Given the description of an element on the screen output the (x, y) to click on. 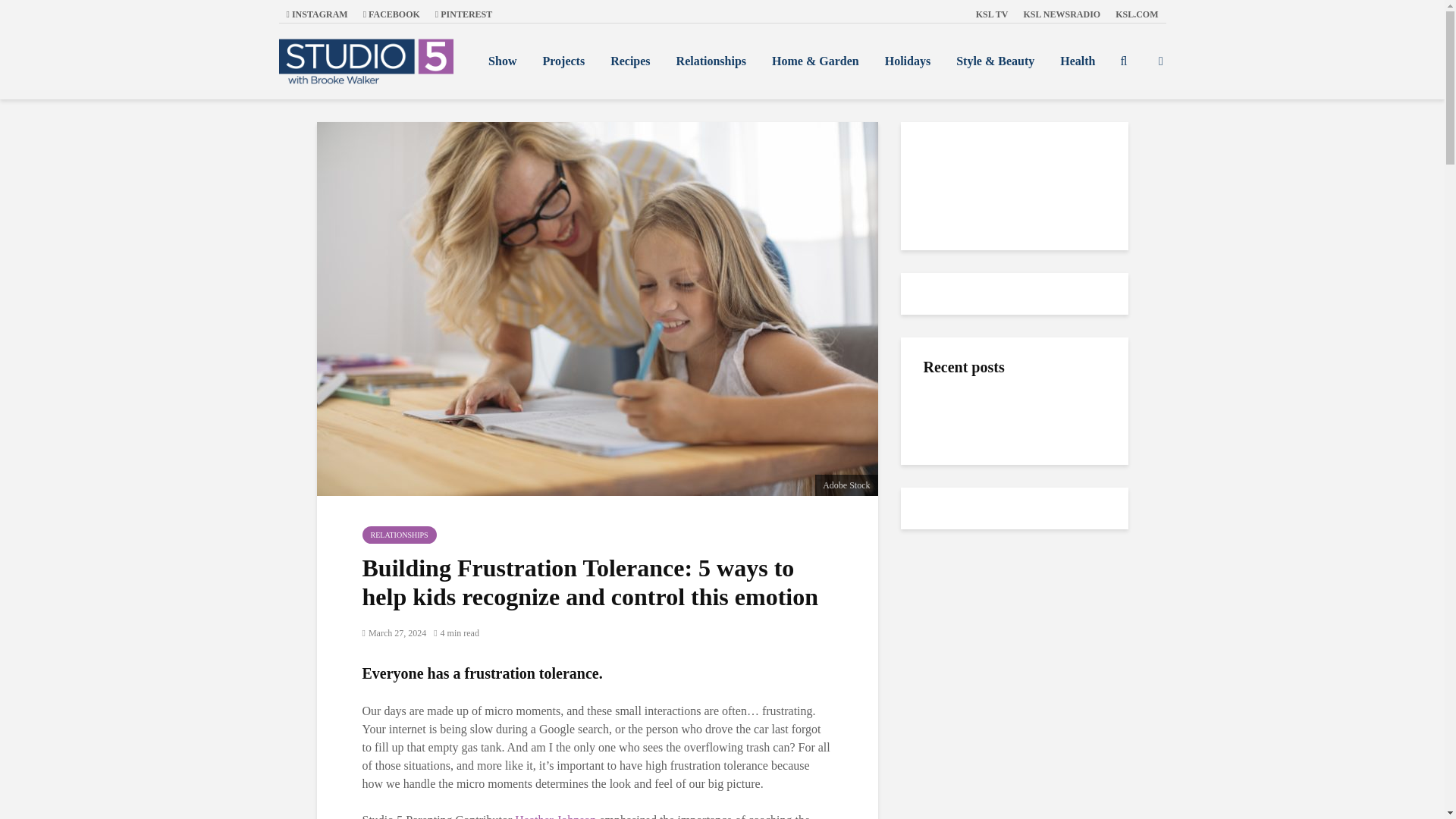
KSL NEWSRADIO (1061, 14)
INSTAGRAM (317, 14)
KSL TV (992, 14)
Heather Johnson (555, 816)
Health (1077, 60)
PINTEREST (463, 14)
Holidays (907, 60)
Show (502, 60)
FACEBOOK (391, 14)
Projects (563, 60)
KSL.COM (1137, 14)
RELATIONSHIPS (399, 534)
Recipes (629, 60)
Relationships (711, 60)
